Given the description of an element on the screen output the (x, y) to click on. 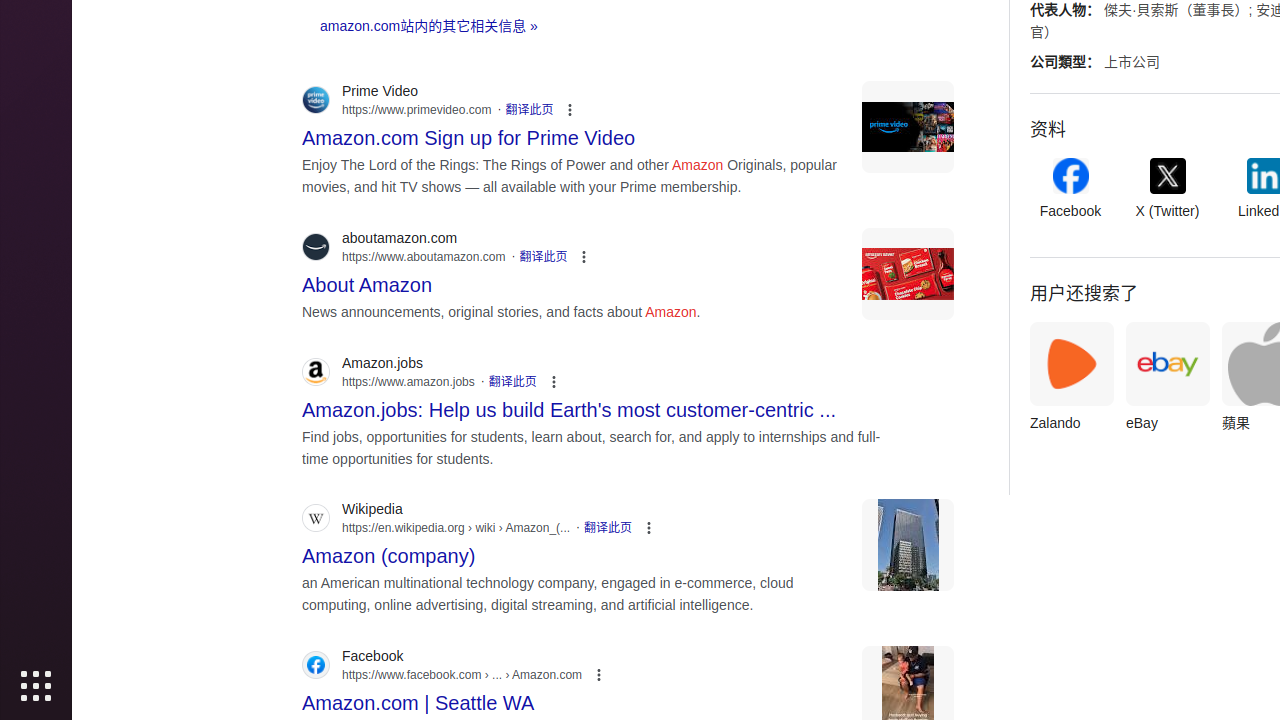
关于这条结果的详细信息 Element type: push-button (610, 674)
 Amazon.com Sign up for Prime Video Prime Video https://www.primevideo.com Element type: link (469, 132)
 About Amazon aboutamazon.com https://www.aboutamazon.com Element type: link (367, 279)
来自www.primevideo.com的“amazon” Element type: link (908, 127)
Zalando Element type: link (1072, 382)
